Given the description of an element on the screen output the (x, y) to click on. 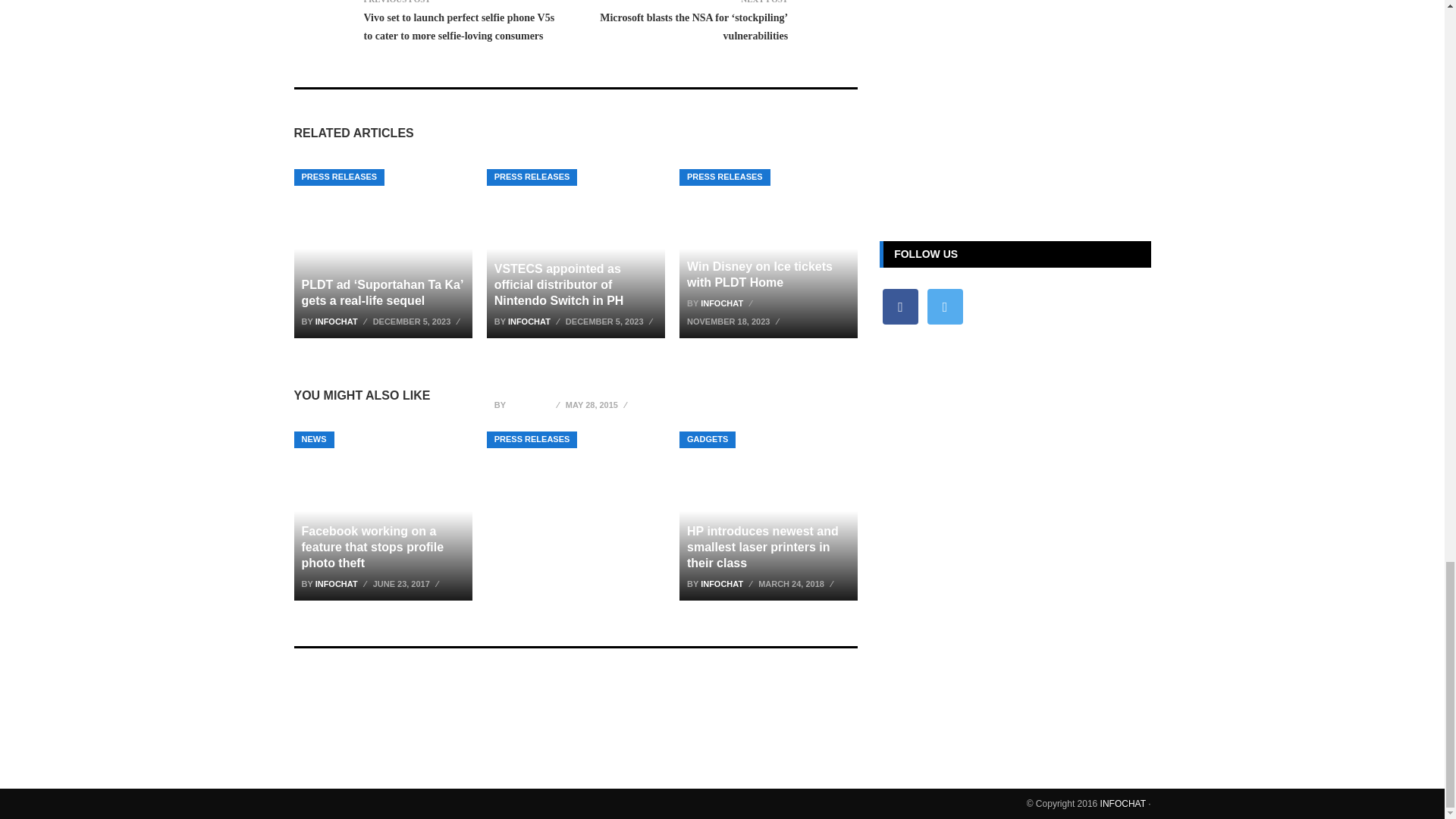
Tuesday, December 5, 2023, 3:27 pm (611, 321)
Thursday, May 28, 2015, 2:37 pm (598, 404)
Tuesday, December 5, 2023, 4:47 pm (418, 321)
Friday, June 23, 2017, 11:02 am (407, 583)
Saturday, November 18, 2023, 12:48 pm (735, 321)
Saturday, March 24, 2018, 10:53 am (797, 583)
